Given the description of an element on the screen output the (x, y) to click on. 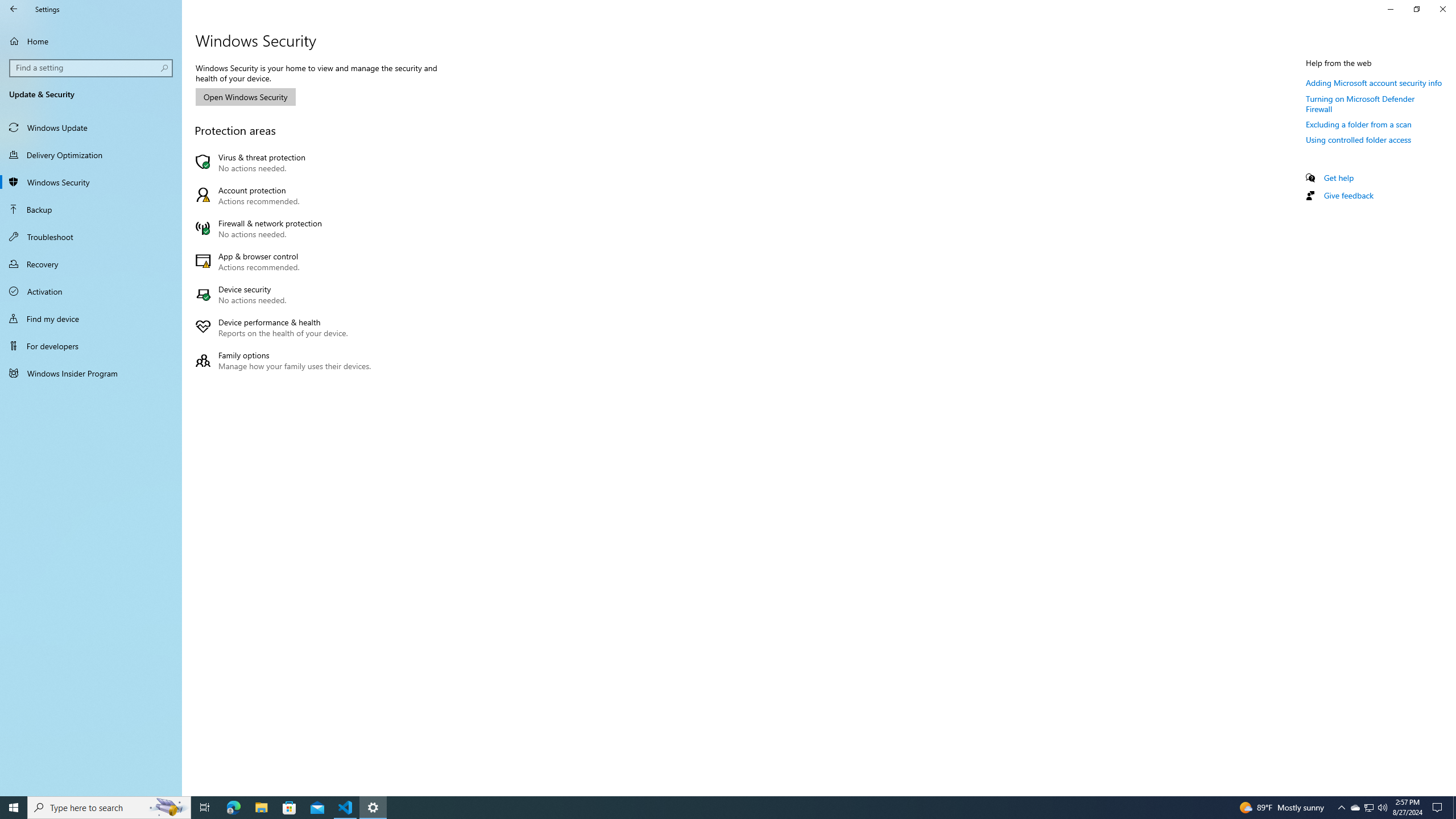
Backup (91, 208)
Turning on Microsoft Defender Firewall (1360, 103)
Device security No actions needed. (285, 294)
Family options (285, 359)
